Given the description of an element on the screen output the (x, y) to click on. 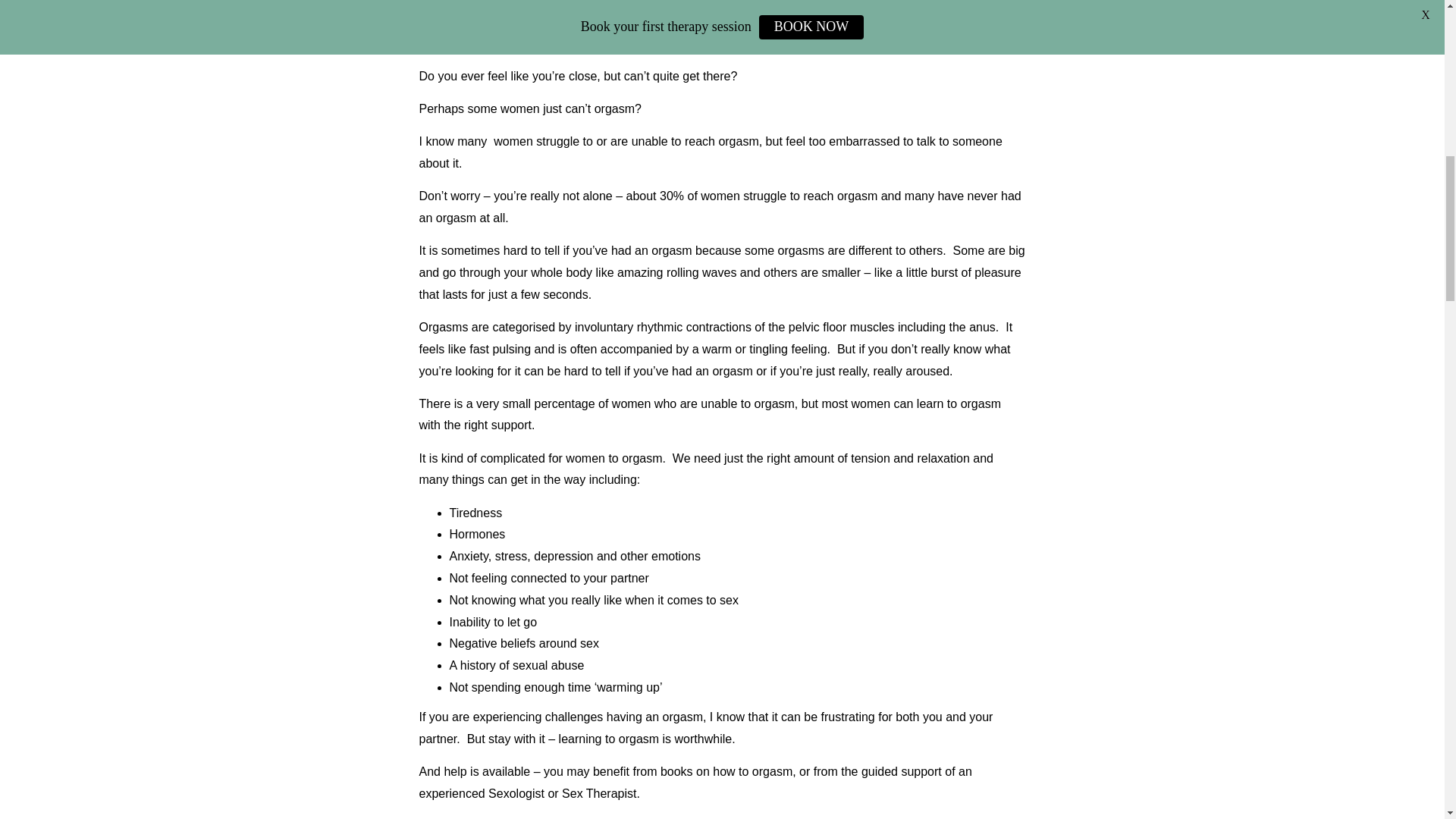
guided support (901, 771)
